Given the description of an element on the screen output the (x, y) to click on. 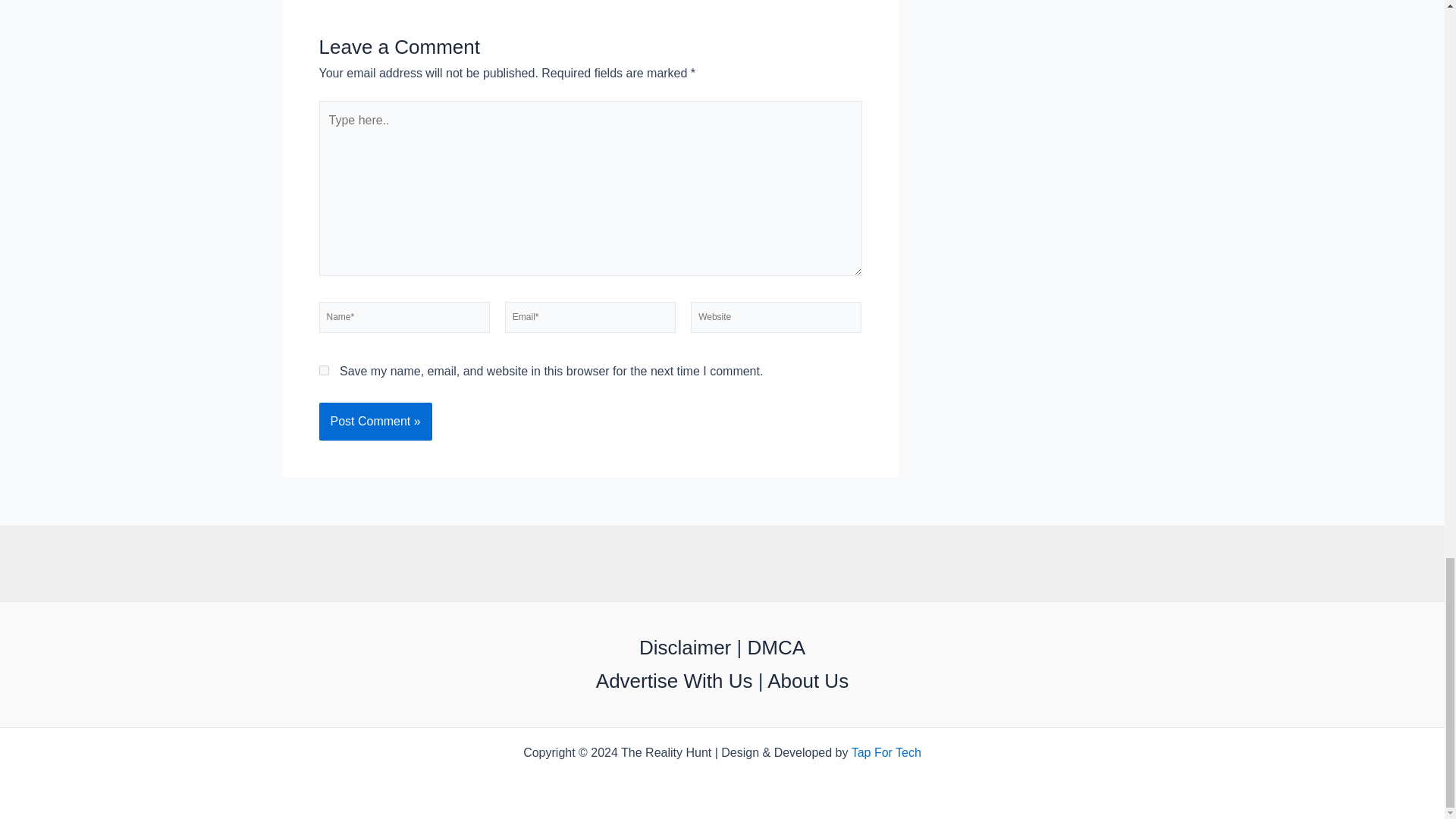
yes (323, 370)
